Given the description of an element on the screen output the (x, y) to click on. 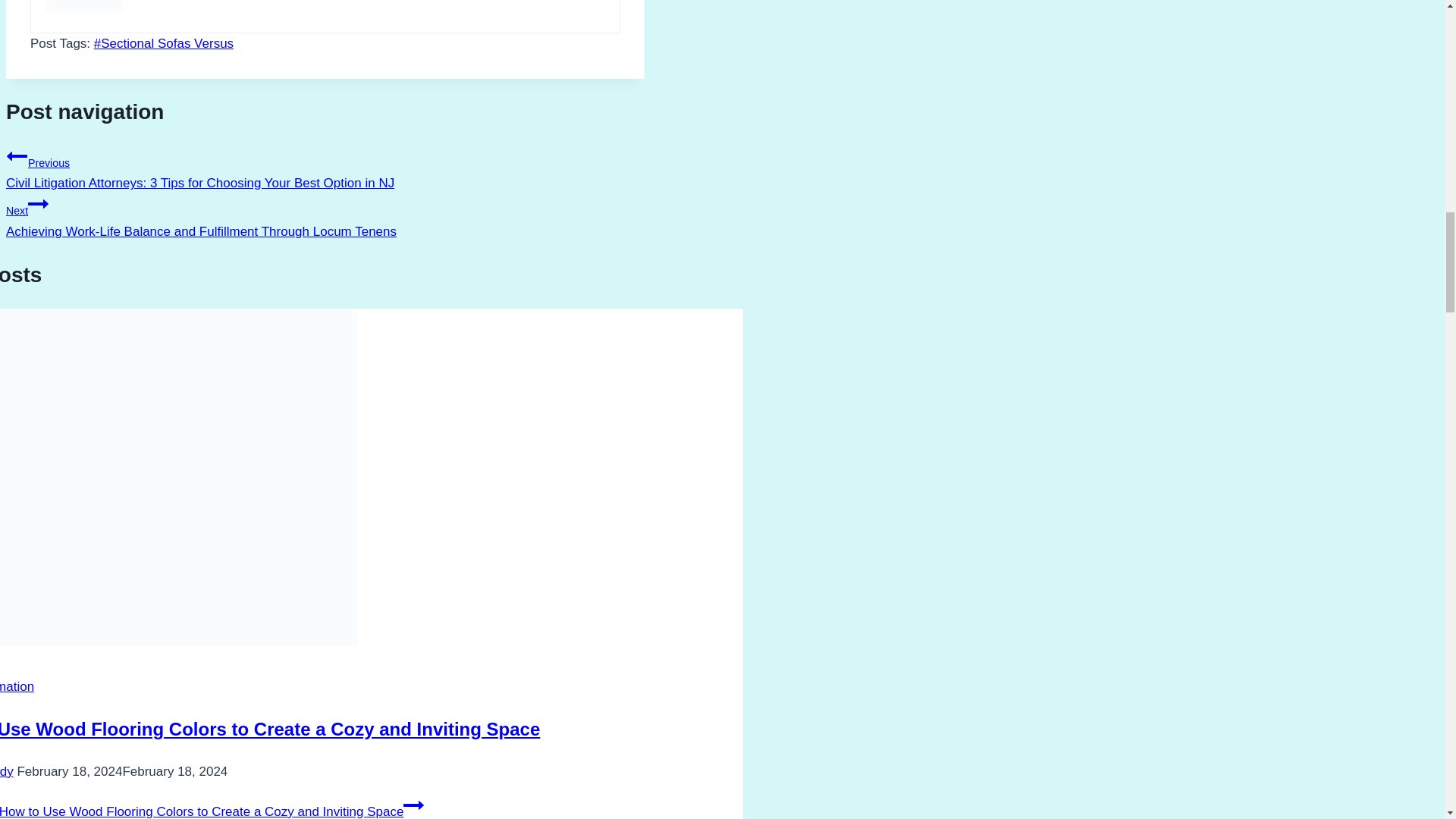
Previous (16, 156)
Continue (37, 203)
Home Information (16, 686)
Sectional Sofas Versus (163, 43)
Alan Roody (6, 771)
Continue (413, 804)
